Given the description of an element on the screen output the (x, y) to click on. 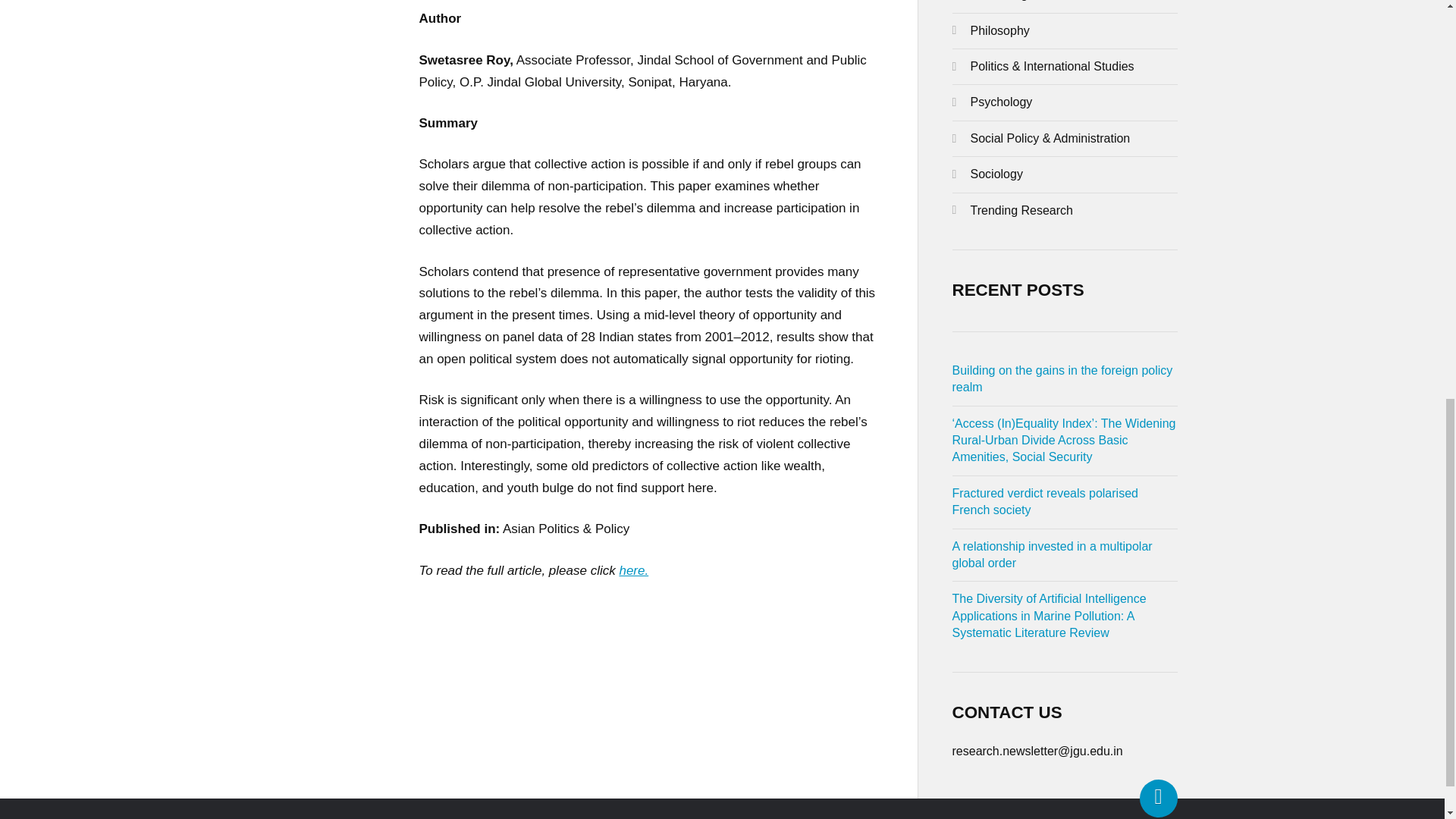
here. (632, 570)
